Given the description of an element on the screen output the (x, y) to click on. 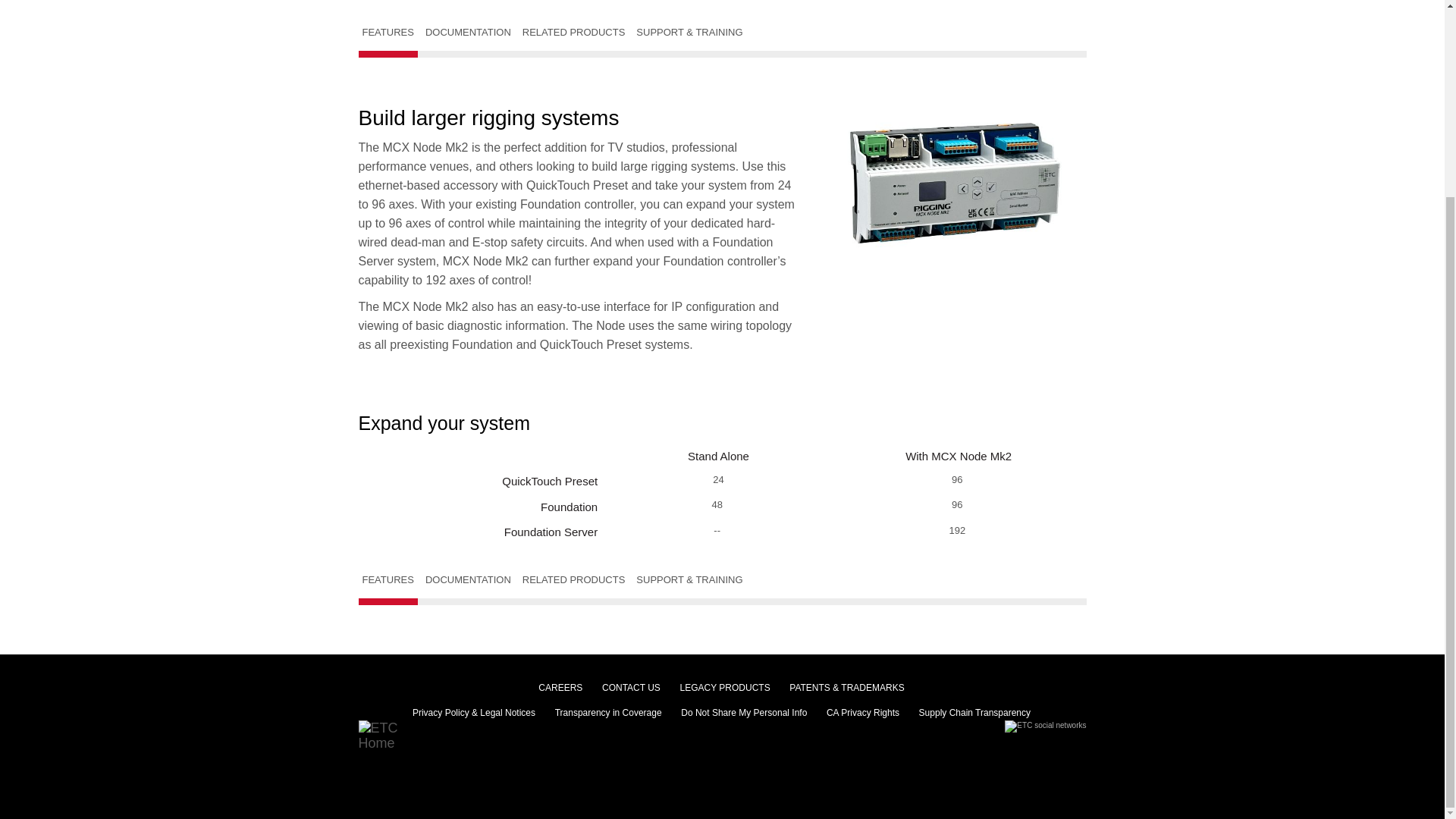
MCX Node Mk2 (953, 182)
Contact Us (631, 685)
Legacy Products (724, 685)
Do Not Share My Personal Info (743, 710)
Careers (560, 685)
